Given the description of an element on the screen output the (x, y) to click on. 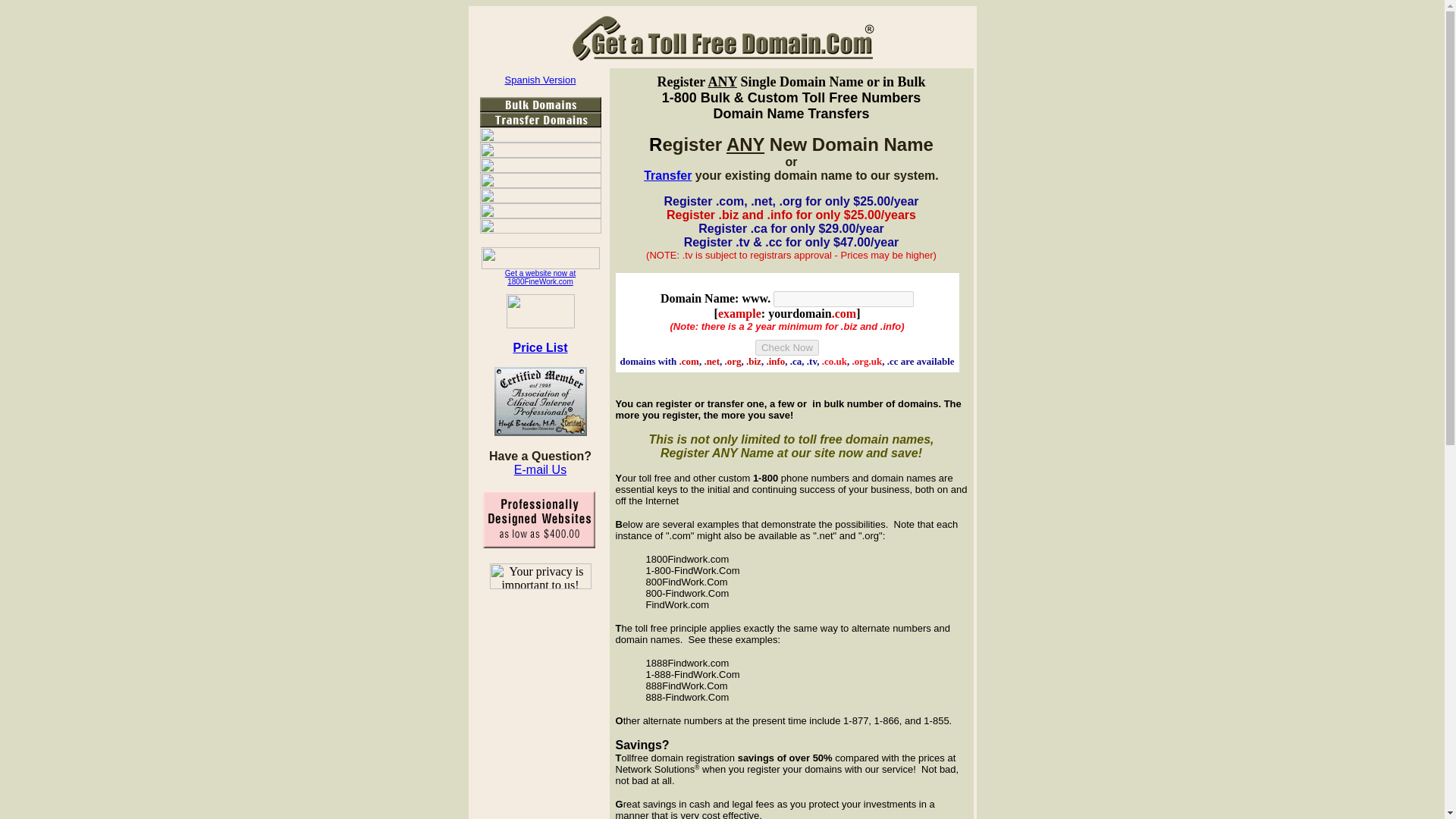
Check Now (786, 347)
Spanish Version (540, 79)
E-mail Us (539, 476)
Transfer (667, 174)
Check Now (786, 347)
Price List (539, 276)
